Given the description of an element on the screen output the (x, y) to click on. 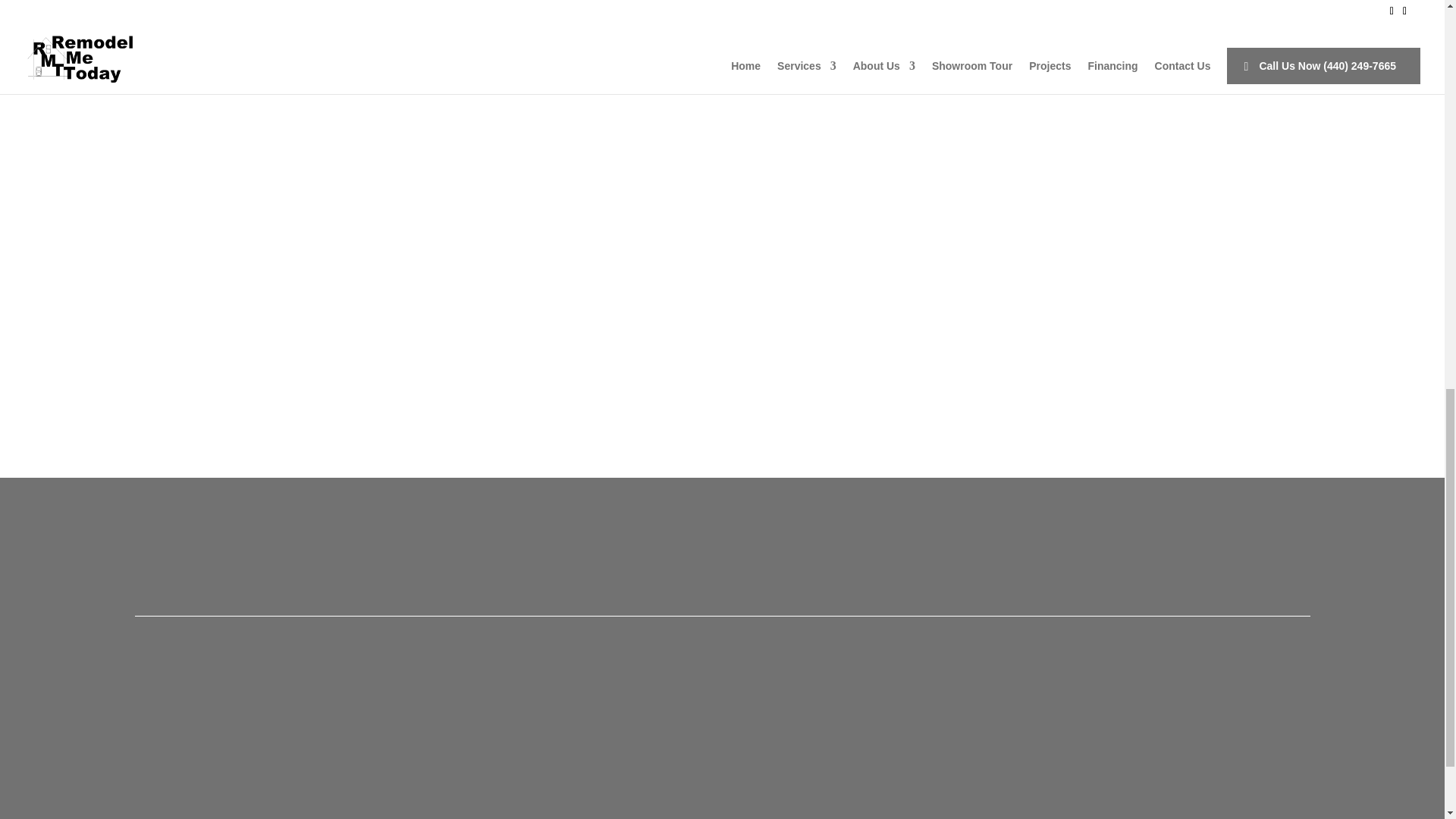
Top Rated Bathroom Remodeler Medina, Ohio 004 (852, 2)
Top Rated Bathroom Remodeler Medina, Ohio 003 (693, 2)
Top Rated Bathroom Remodeler Medina, Ohio 001 (375, 2)
Top Rated Bathroom Remodeler Medina, Ohio 002 (533, 2)
